Given the description of an element on the screen output the (x, y) to click on. 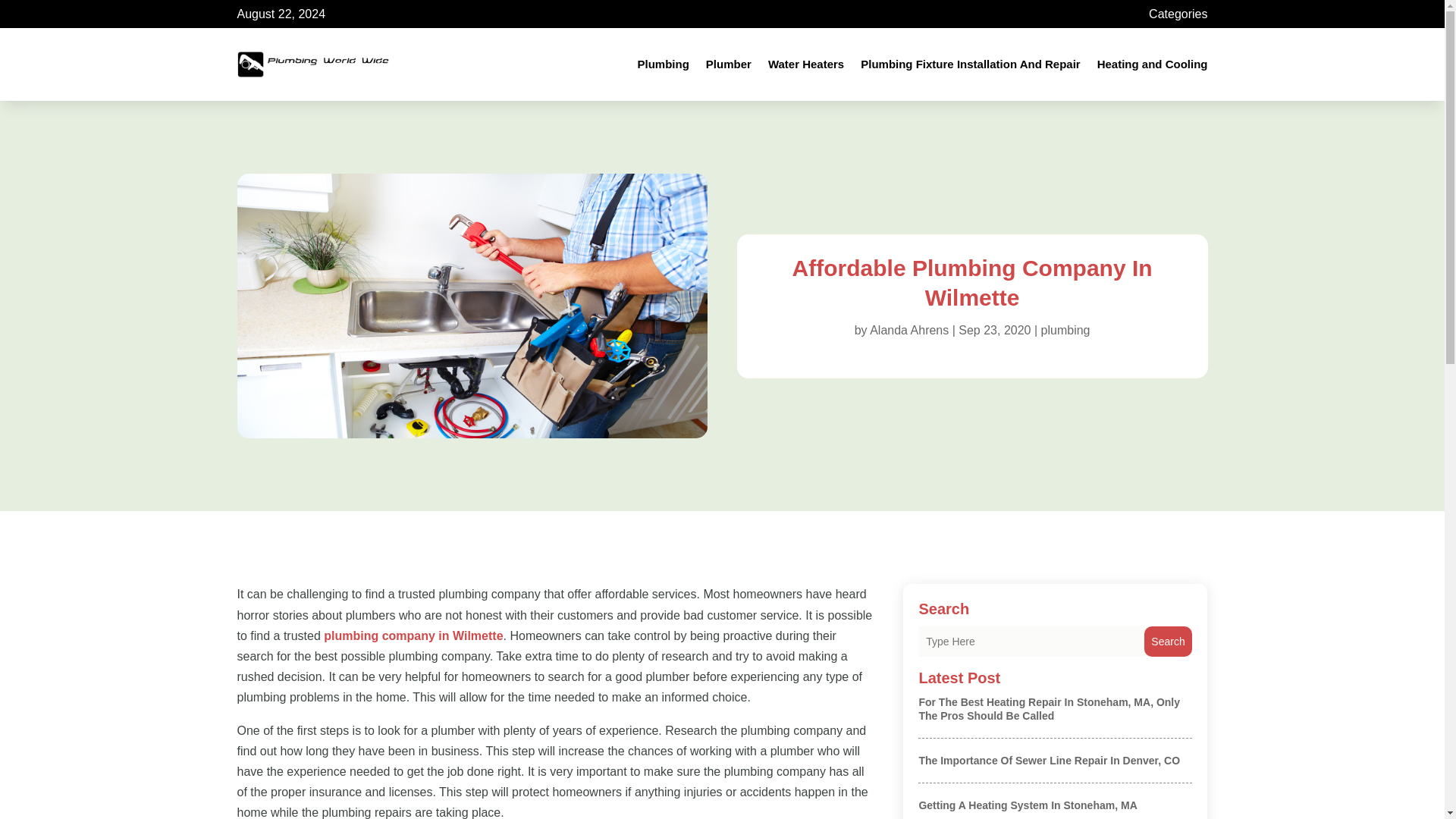
Alanda Ahrens (909, 329)
Plumbing Fixture Installation And Repair (970, 64)
The Importance Of Sewer Line Repair In Denver, CO (1048, 760)
Posts by Alanda Ahrens (909, 329)
Plumbing (662, 64)
plumbing (1065, 329)
Search (1168, 641)
Water Heaters (806, 64)
plumbing company in Wilmette (412, 635)
Getting A Heating System In Stoneham, MA (1027, 805)
